Given the description of an element on the screen output the (x, y) to click on. 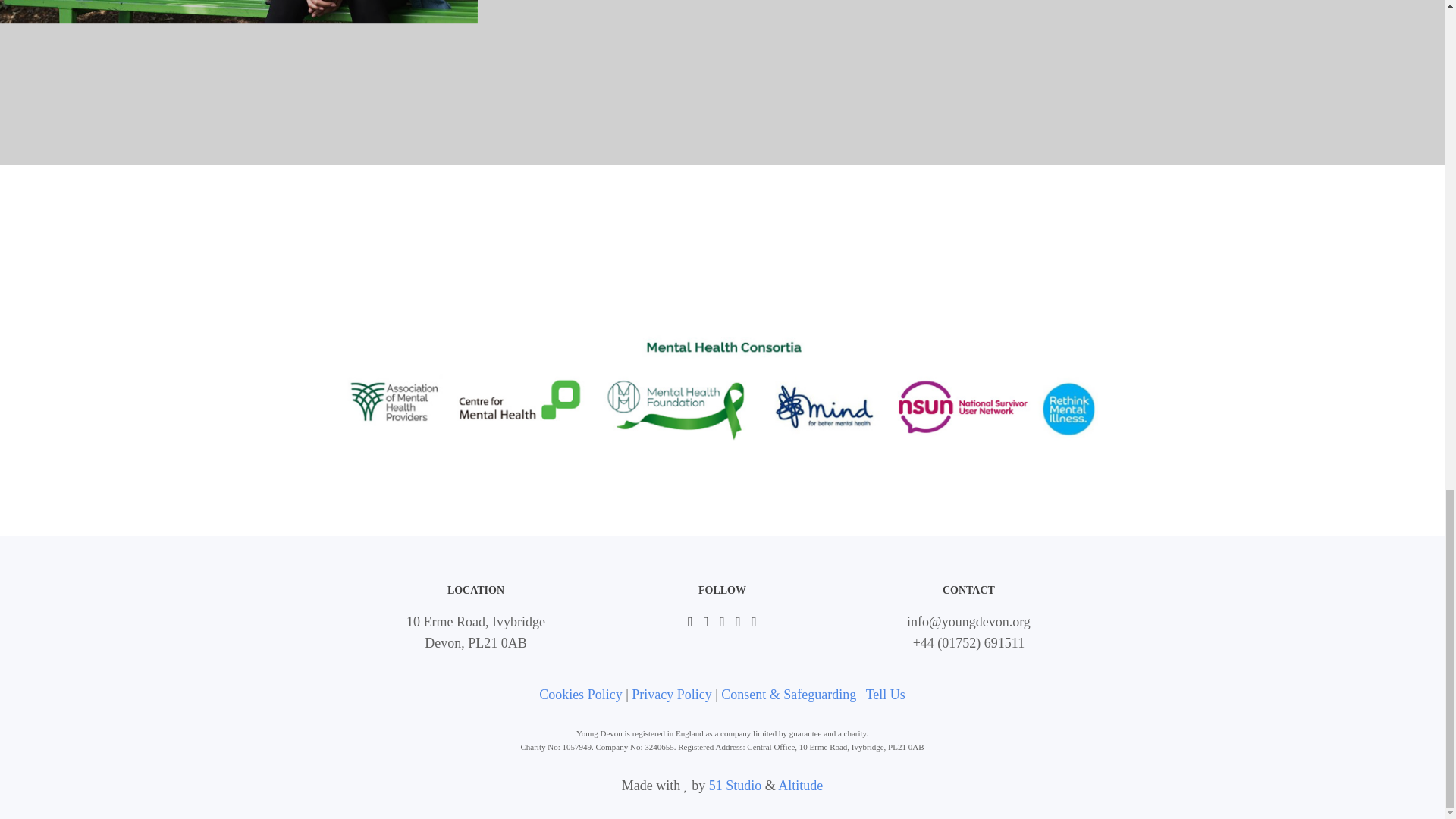
Privacy Policy (671, 694)
51 Studio (735, 785)
Altitude (799, 785)
Tell Us (885, 694)
Cookies Policy (580, 694)
